Given the description of an element on the screen output the (x, y) to click on. 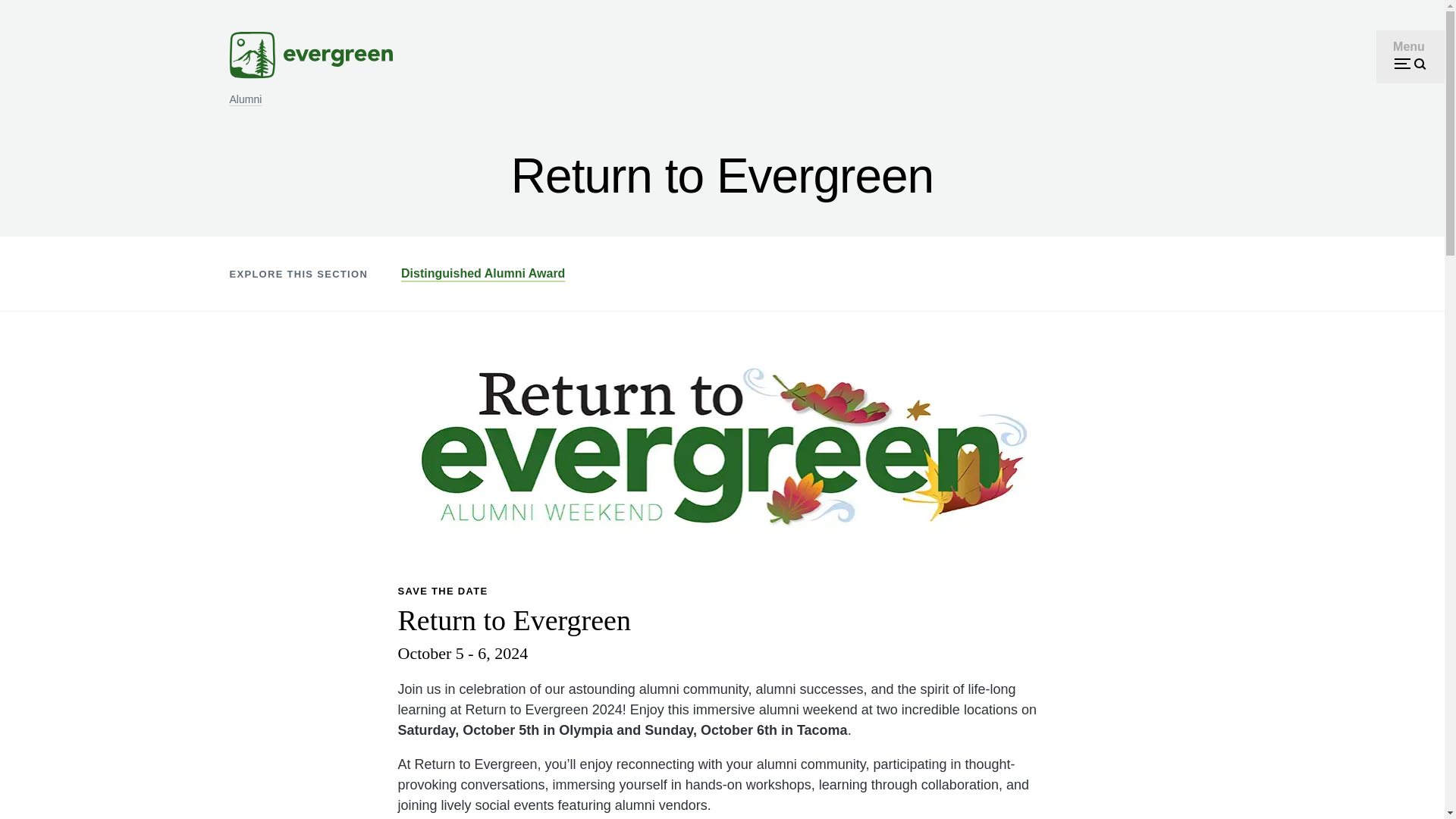
Distinguished Alumni Award (482, 273)
Alumni (245, 99)
